Given the description of an element on the screen output the (x, y) to click on. 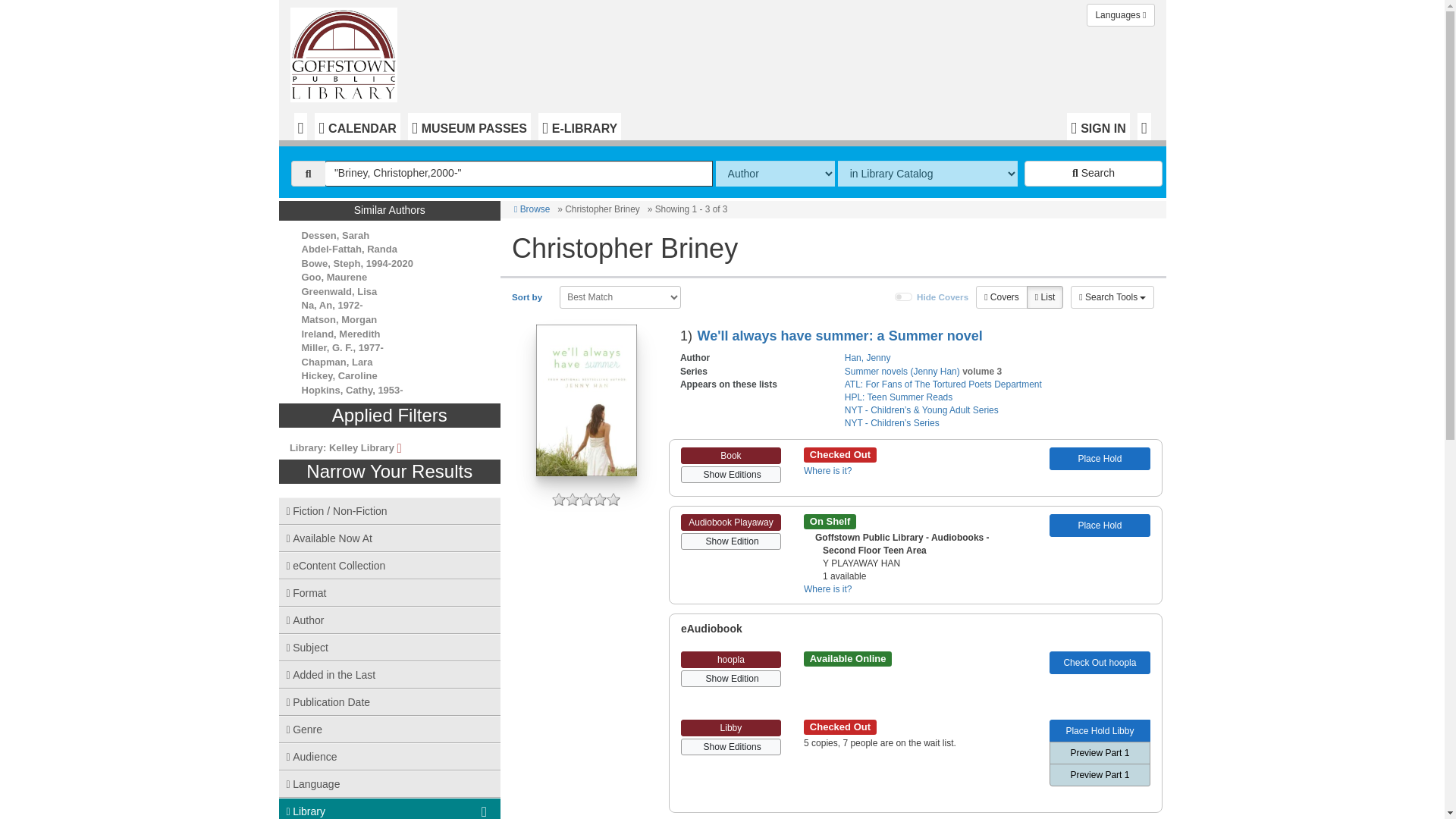
Library Home Page (346, 51)
"Briney, Christopher,2000-" (518, 173)
SIGN IN (1098, 126)
MUSEUM PASSES (469, 126)
E-LIBRARY (579, 126)
on (903, 297)
CALENDAR (357, 126)
Languages  (1120, 15)
Login (1098, 126)
